Given the description of an element on the screen output the (x, y) to click on. 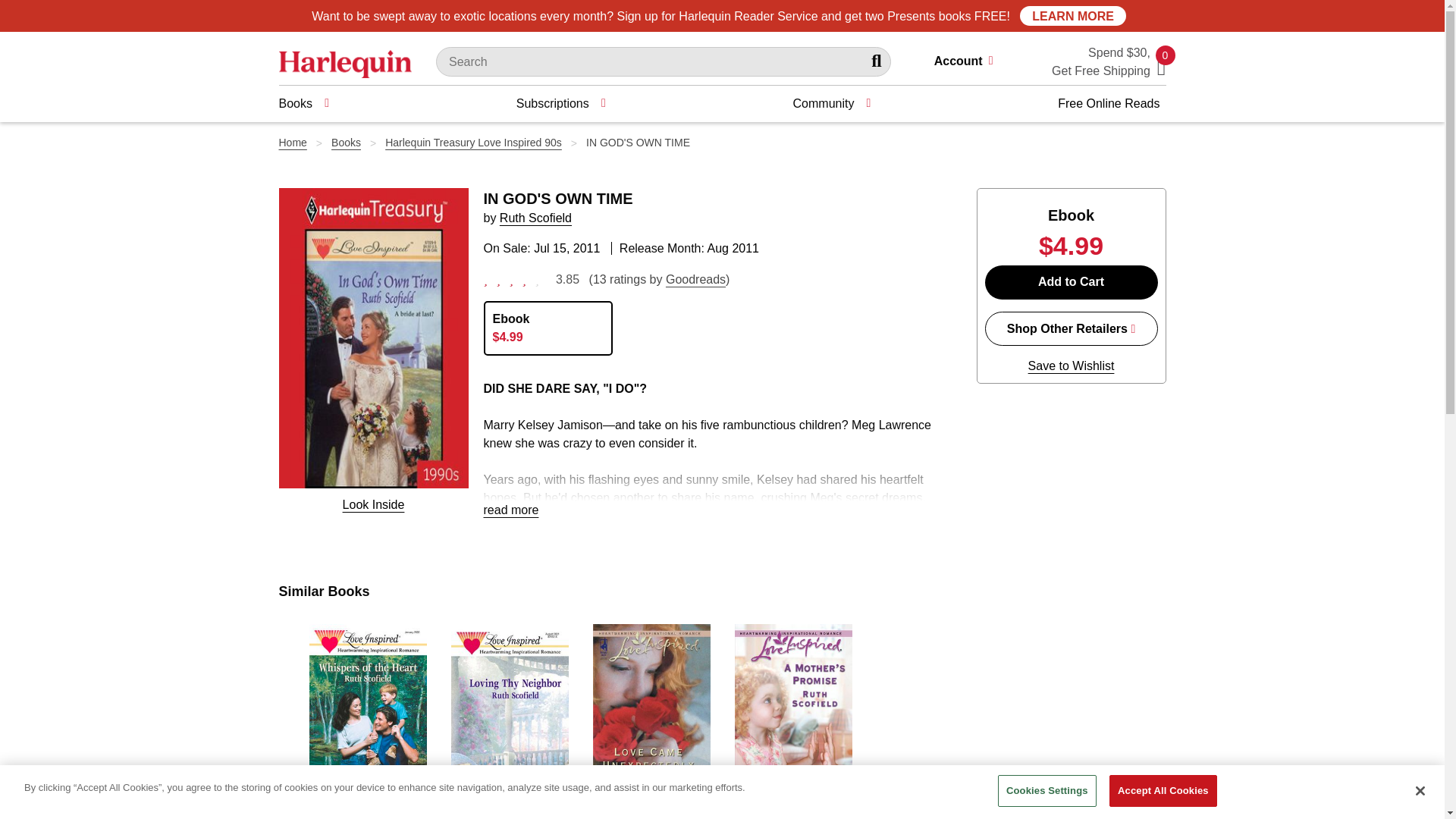
Account (970, 62)
Search for other content by Ruth Scofield (535, 217)
LEARN MORE (1072, 15)
See ratings and reviews (515, 278)
Books (304, 103)
Harlequin home (345, 62)
See all reviews on Goodreads (695, 278)
